Given the description of an element on the screen output the (x, y) to click on. 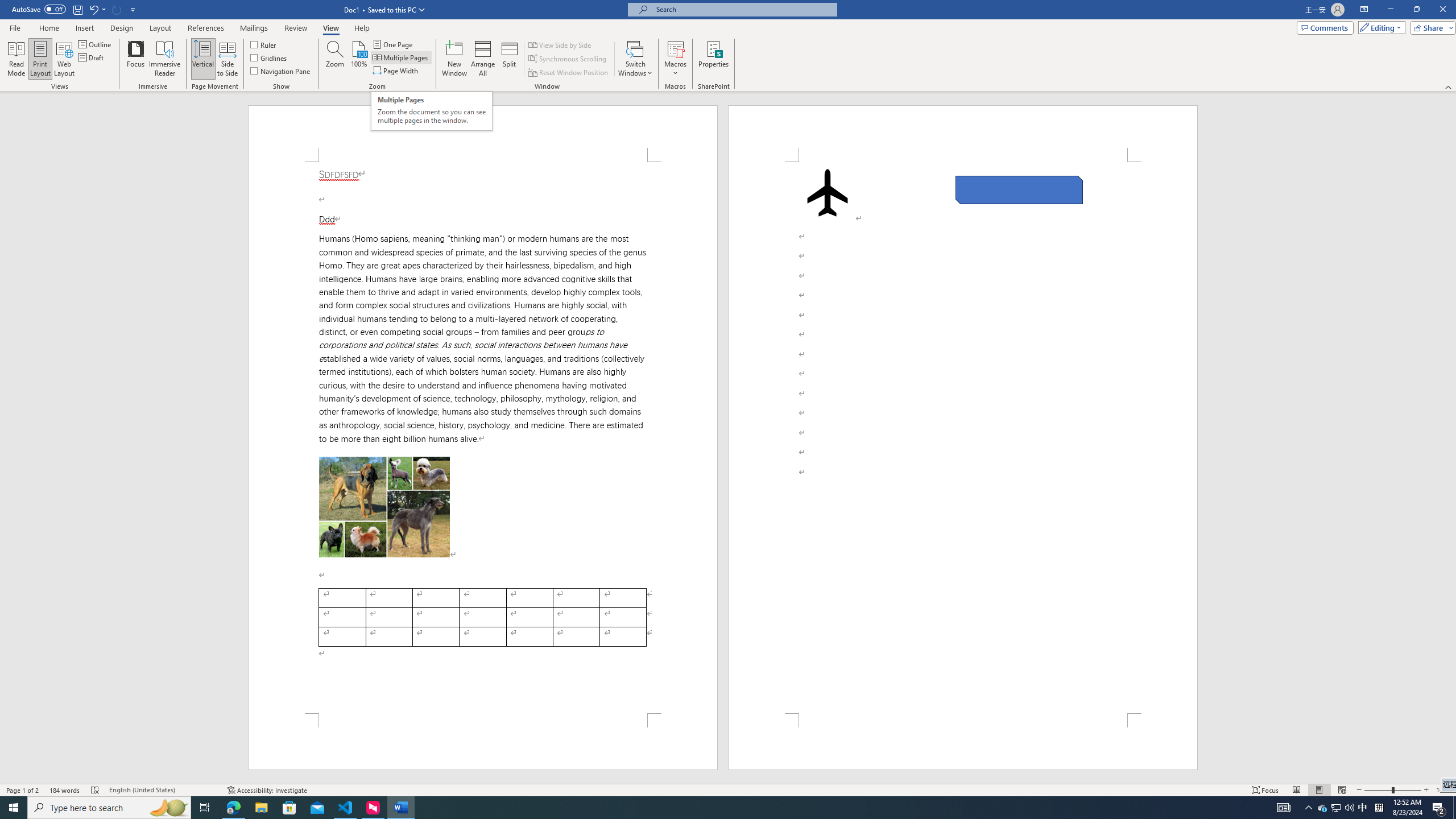
Vertical (202, 58)
Ruler (263, 44)
Synchronous Scrolling (568, 58)
Page 2 content (963, 437)
Macros (675, 58)
Spelling and Grammar Check Errors (94, 790)
Multiple Pages (400, 56)
Can't Repeat (117, 9)
Outline (95, 44)
